Given the description of an element on the screen output the (x, y) to click on. 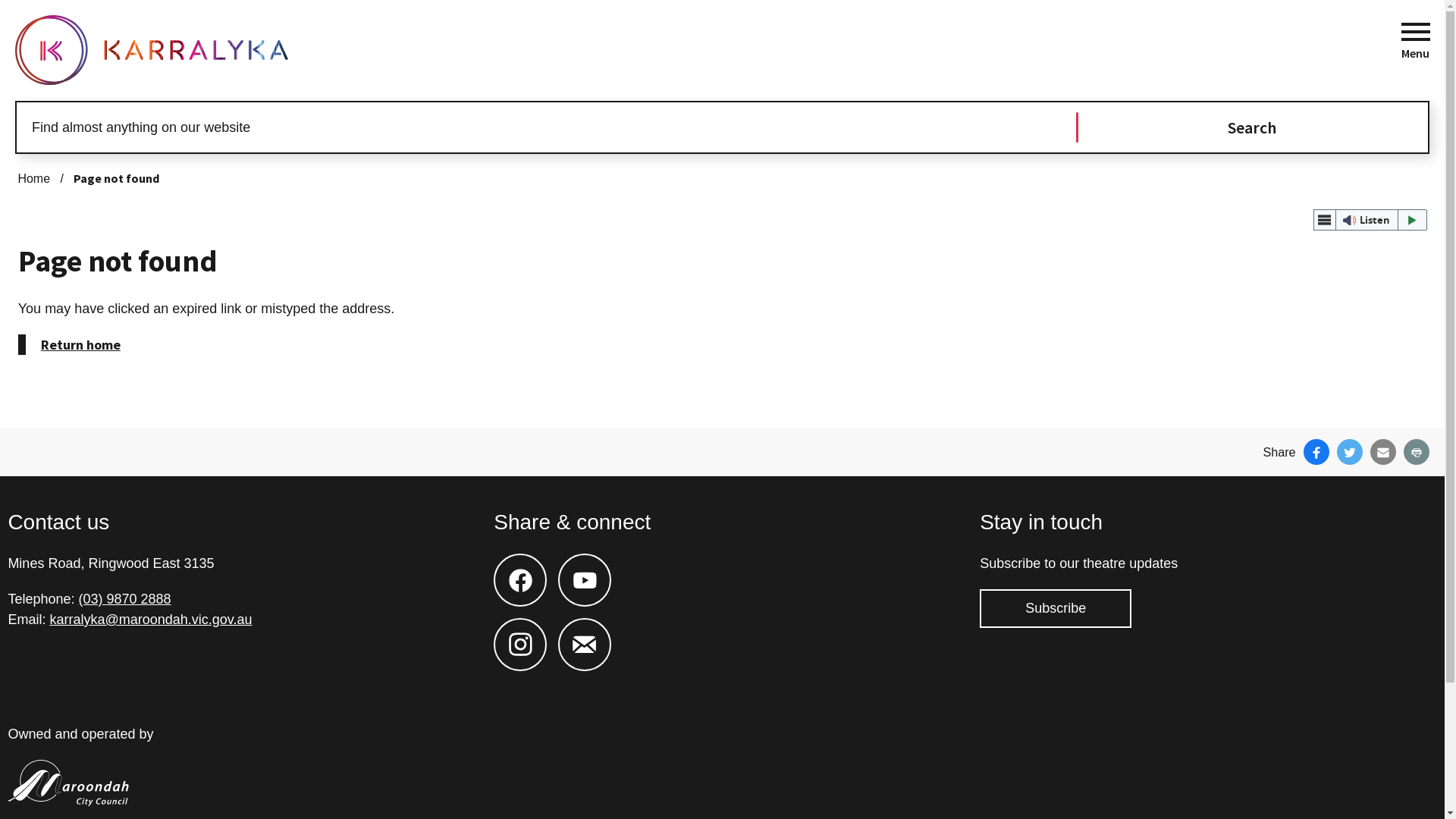
karralyka@maroondah.vic.gov.au Element type: text (150, 619)
Print Element type: text (1416, 451)
Menu Element type: text (1415, 34)
Home - Karralyka - Logo Element type: text (151, 50)
Listen Element type: text (1370, 219)
Twitter Element type: text (1349, 451)
Search Element type: text (1252, 126)
(03) 9870 2888 Element type: text (124, 598)
YouTube Element type: text (584, 563)
Home Element type: text (33, 178)
Subscribe Element type: text (1055, 608)
webReader menu Element type: hover (1324, 219)
Return home Element type: text (69, 344)
Facebook Element type: text (1316, 451)
Email Element type: text (1383, 451)
Facebook Element type: text (519, 563)
Instagram Element type: text (519, 628)
Email Element type: text (584, 628)
